Given the description of an element on the screen output the (x, y) to click on. 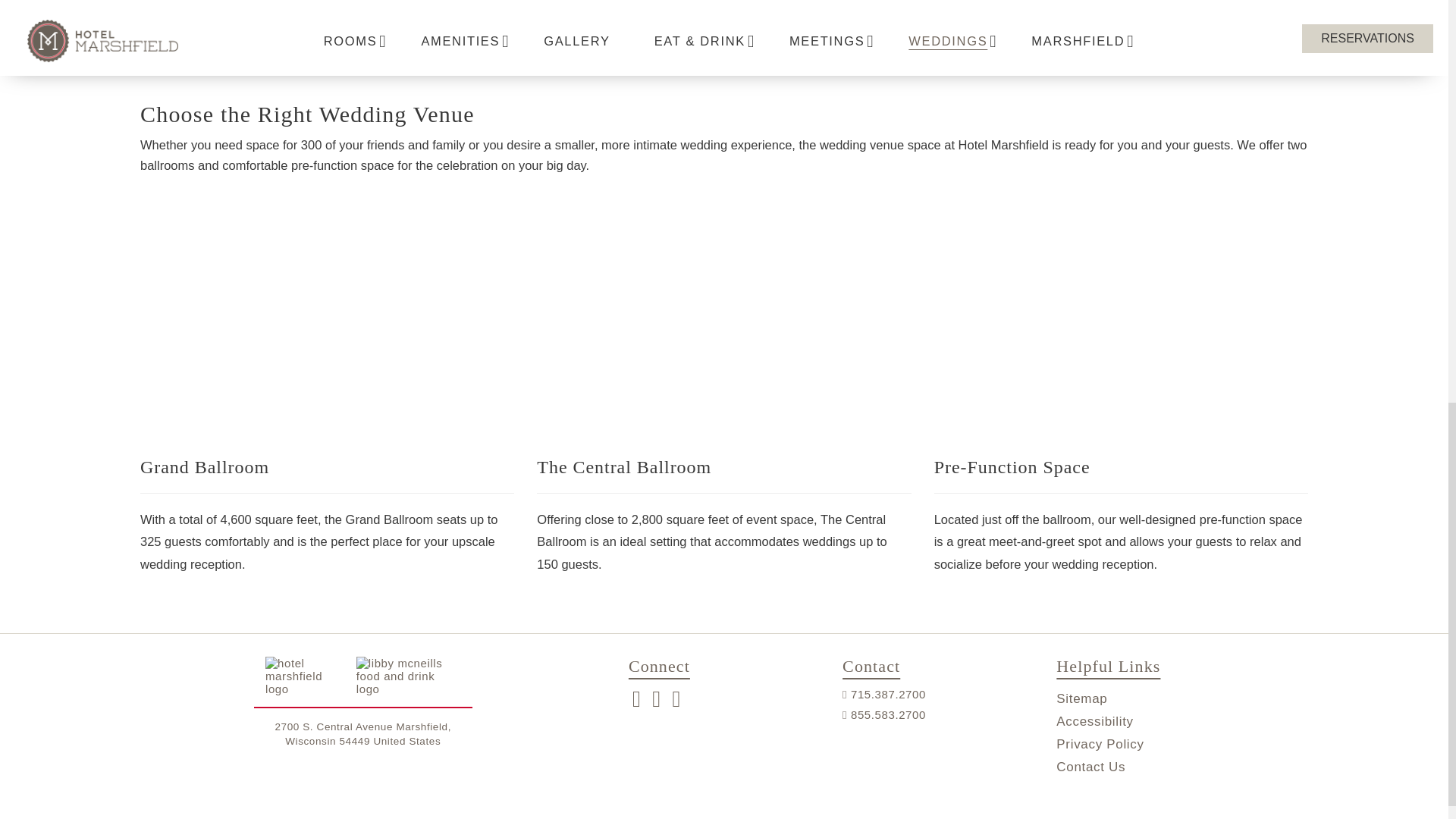
Link to Larger Item Photo (326, 327)
Link to Larger Item Photo (1120, 327)
Link to Larger Item Photo (724, 327)
